Given the description of an element on the screen output the (x, y) to click on. 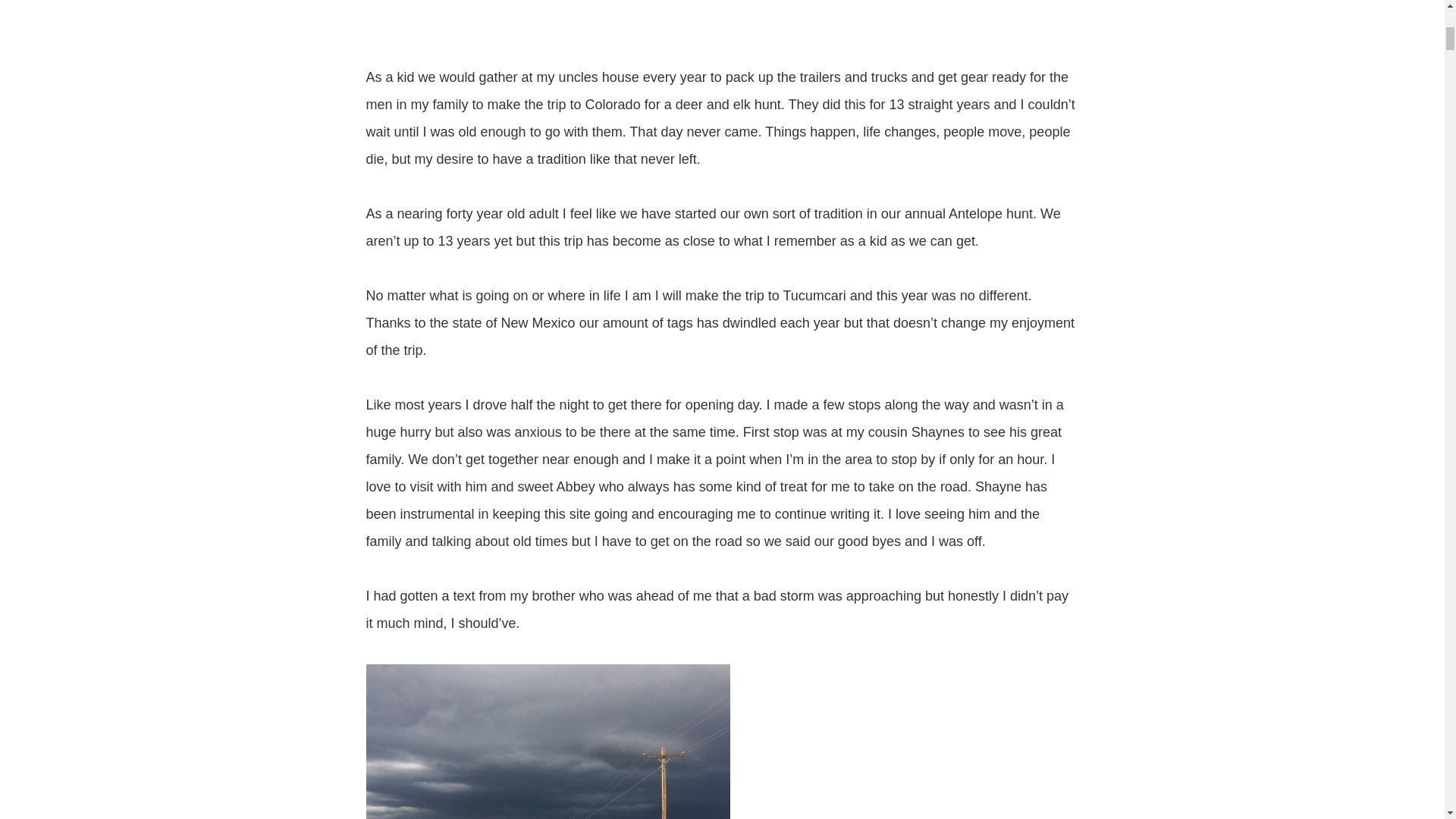
Advertisement (721, 28)
